Given the description of an element on the screen output the (x, y) to click on. 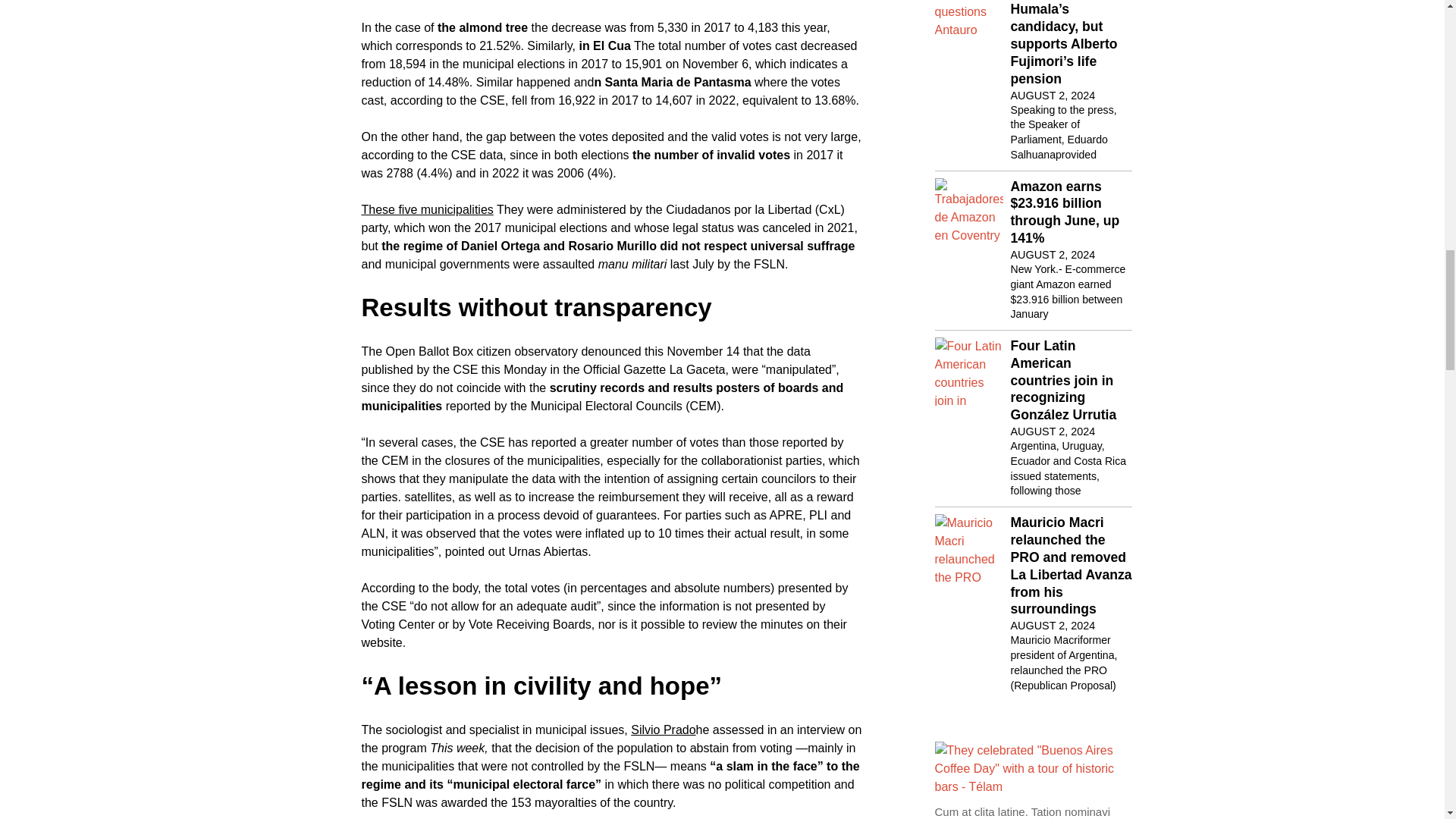
02 Aug, 2024 18:55:47 (1052, 95)
02 Aug, 2024 18:19:43 (1052, 431)
Silvio Prado (662, 729)
02 Aug, 2024 18:57:40 (1052, 625)
02 Aug, 2024 18:06:45 (1052, 254)
These five municipalities (427, 209)
